Given the description of an element on the screen output the (x, y) to click on. 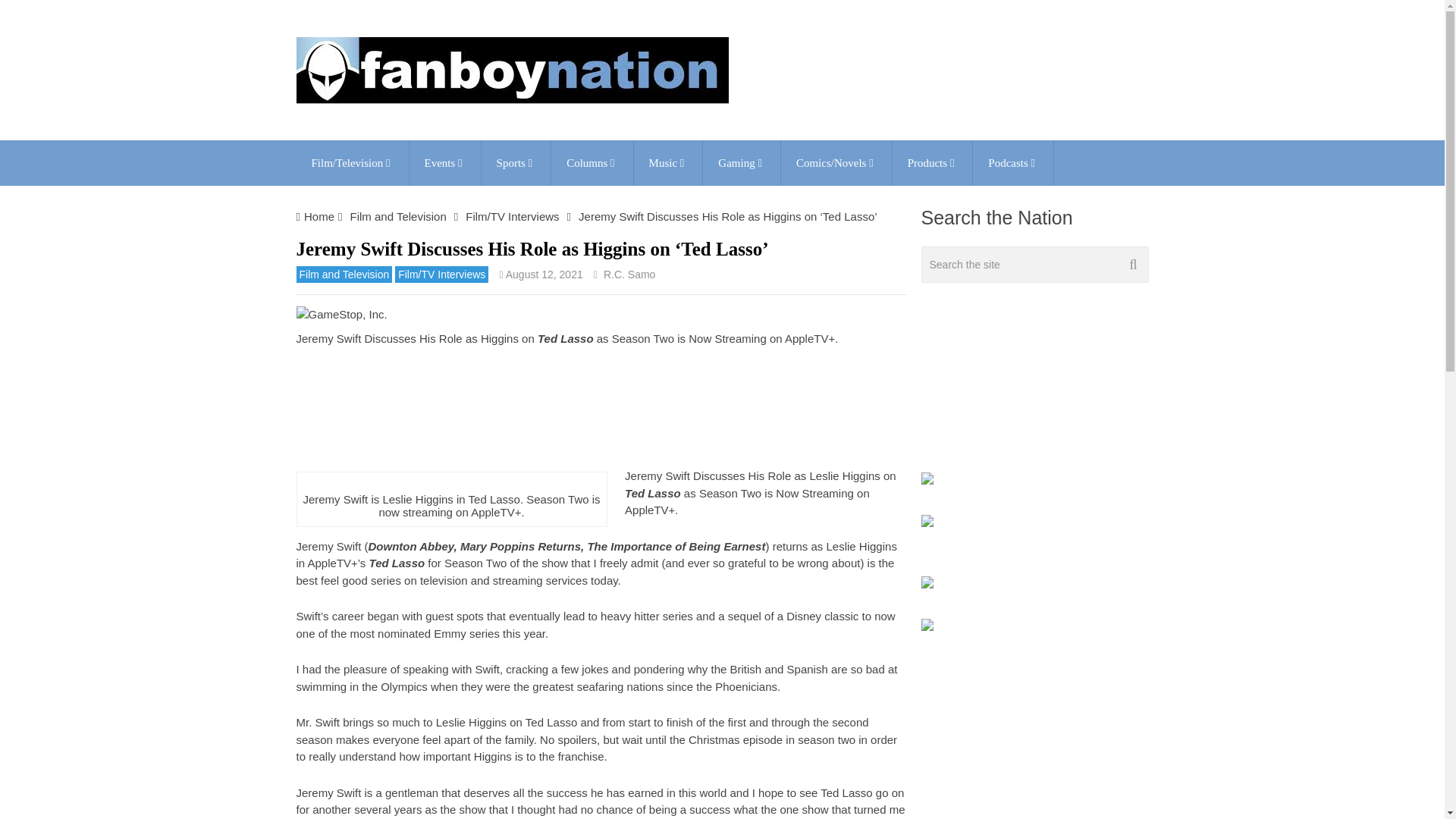
R.C. Samo (628, 274)
Columns (591, 162)
Film and Television (397, 215)
Events (444, 162)
Products (932, 162)
Cons and Expos (444, 162)
Sports (516, 162)
Music (668, 162)
Gaming (741, 162)
Podcasts (1012, 162)
